Given the description of an element on the screen output the (x, y) to click on. 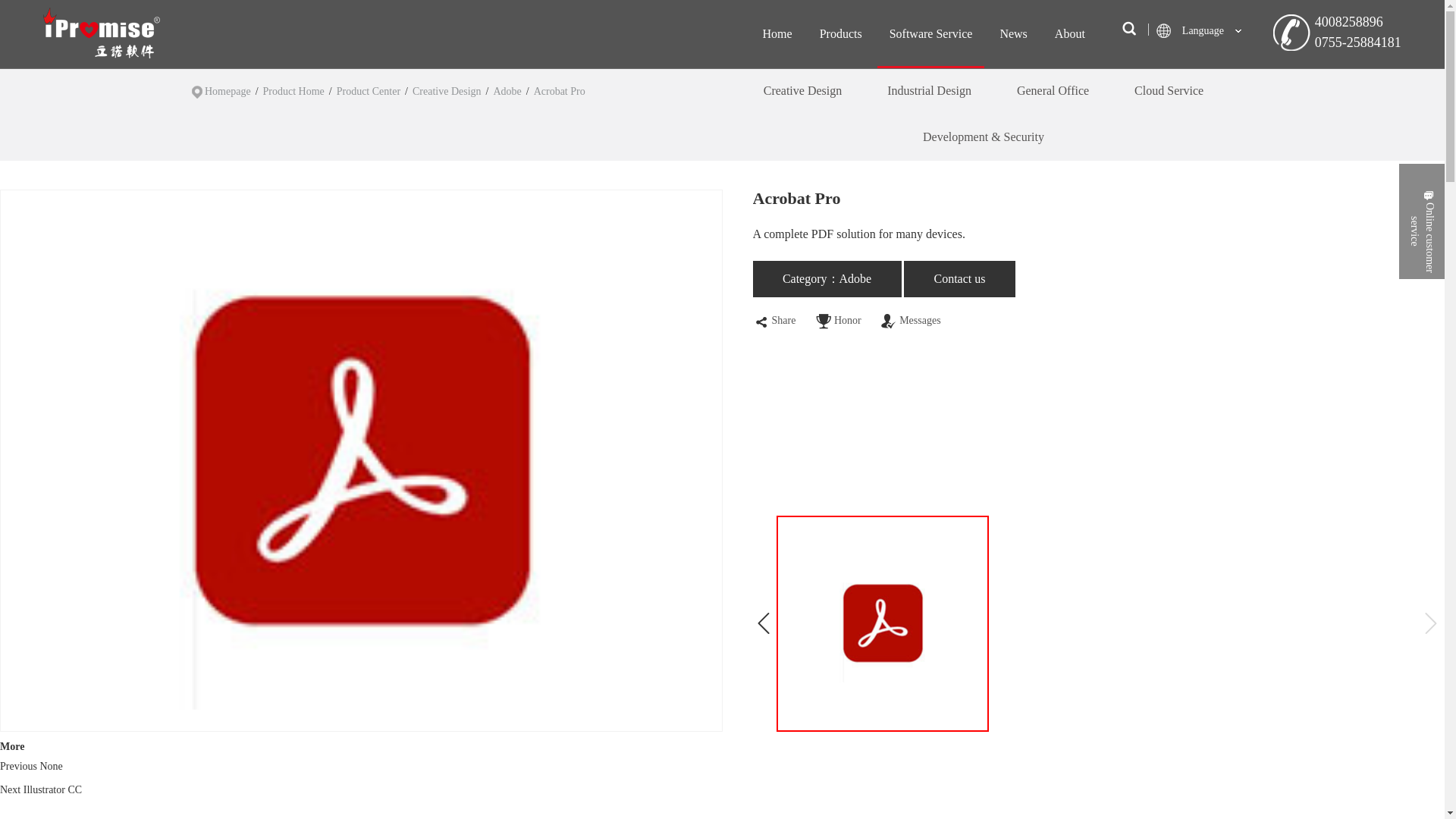
Home (777, 33)
Language (1205, 30)
Products (840, 33)
